Given the description of an element on the screen output the (x, y) to click on. 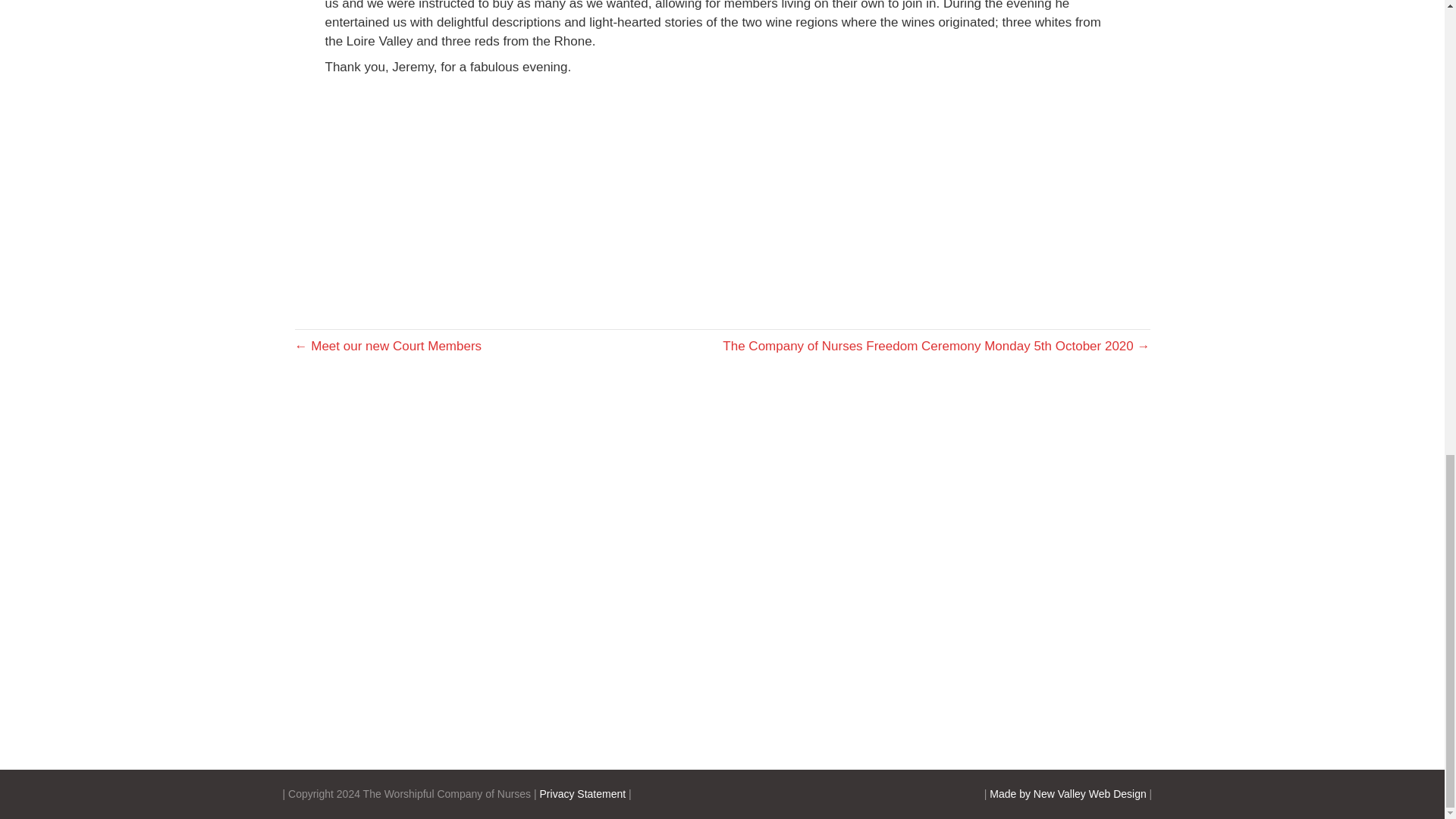
Wine Tasting 1 (451, 195)
Gallery Wine TAsting without names (721, 195)
